Given the description of an element on the screen output the (x, y) to click on. 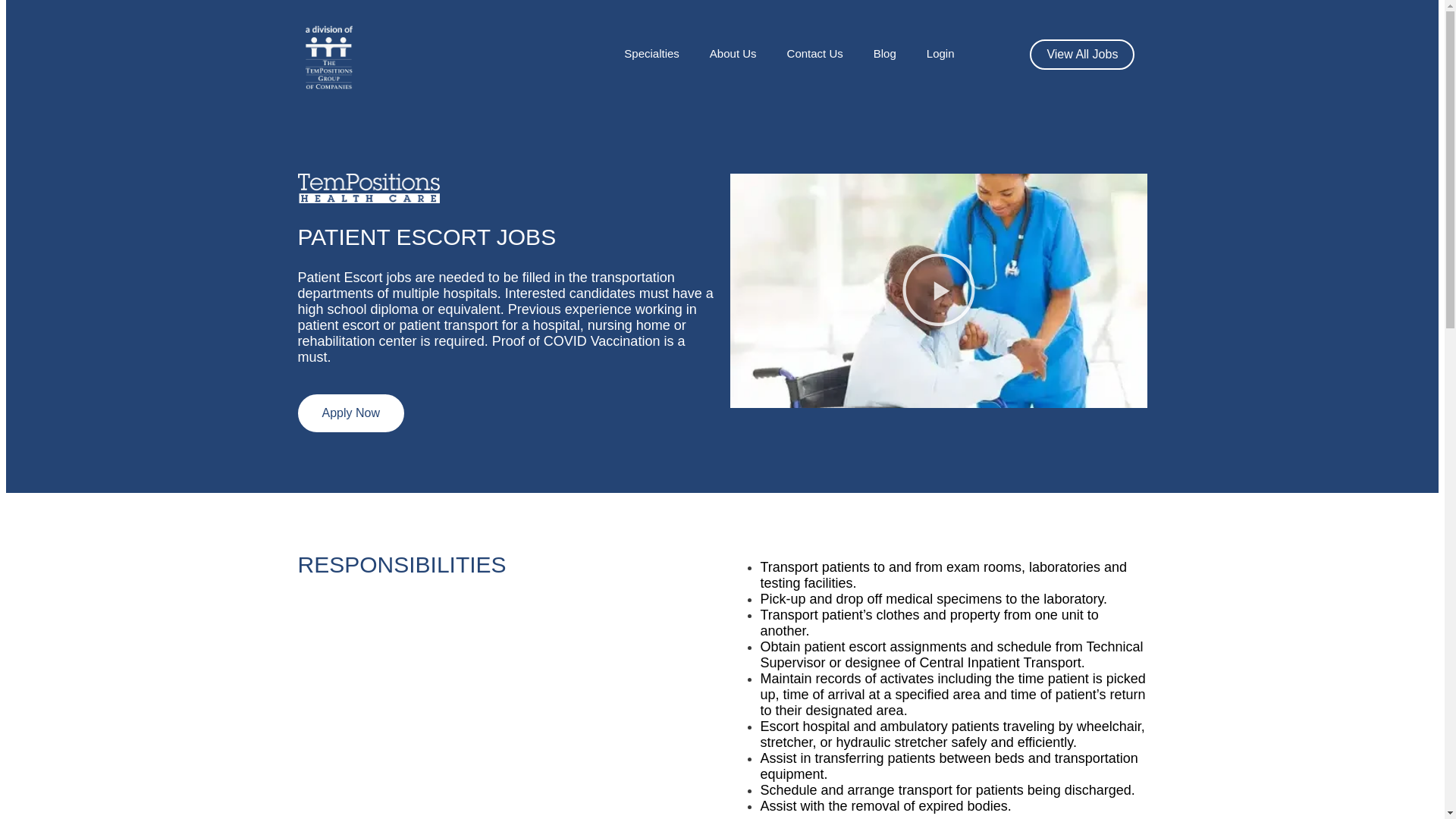
Contact Us (815, 53)
About Us (732, 53)
Specialties (651, 53)
Blog (885, 53)
Login (940, 53)
